Given the description of an element on the screen output the (x, y) to click on. 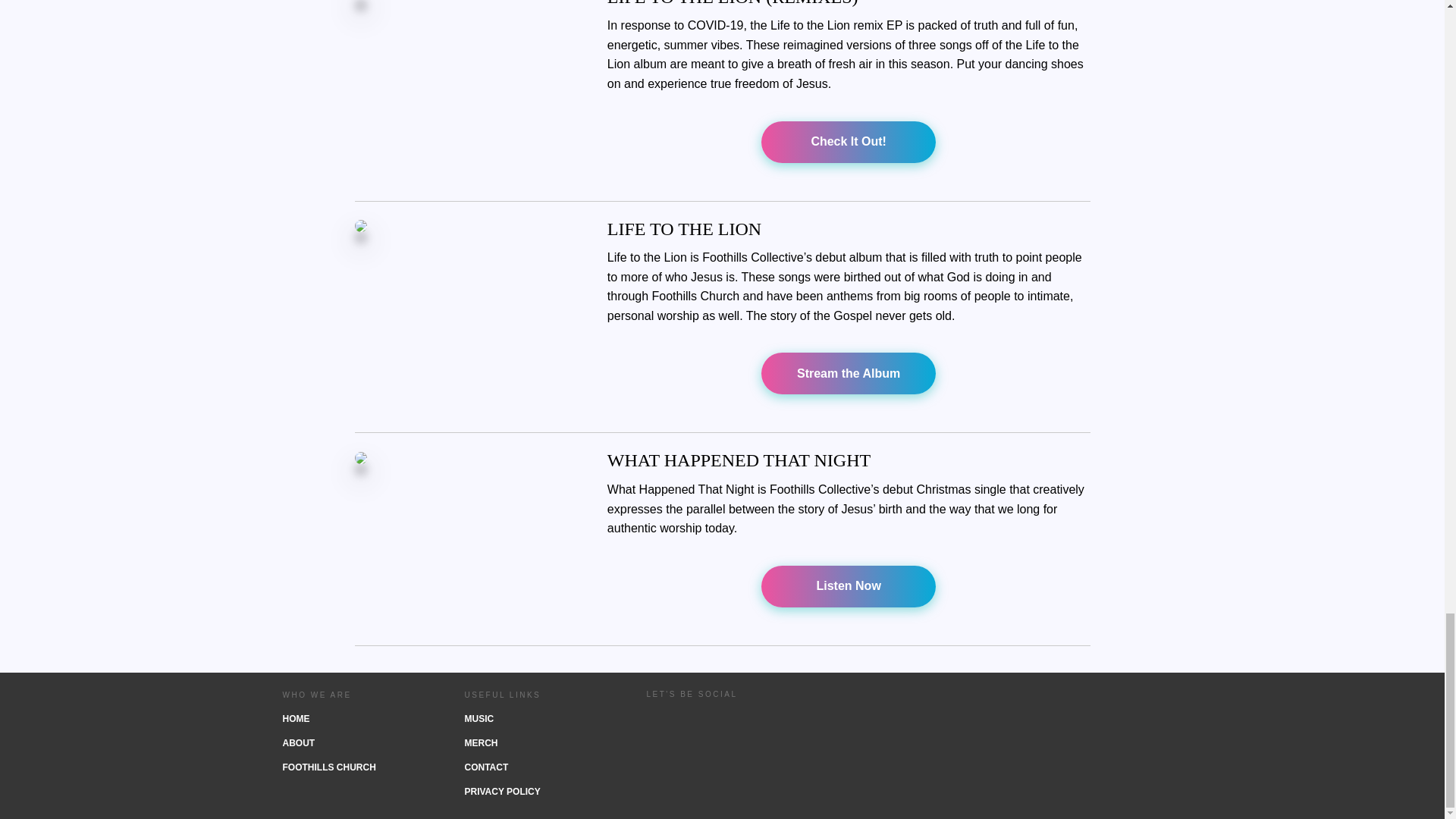
WHO WE ARE (357, 694)
PRIVACY POLICY (539, 791)
MERCH (539, 742)
FOOTHILLS CHURCH (357, 767)
Listen Now (847, 585)
ABOUT (357, 742)
Listen Now (848, 586)
HOME (357, 718)
Check It Out! (848, 141)
Check It Out! (847, 141)
